Given the description of an element on the screen output the (x, y) to click on. 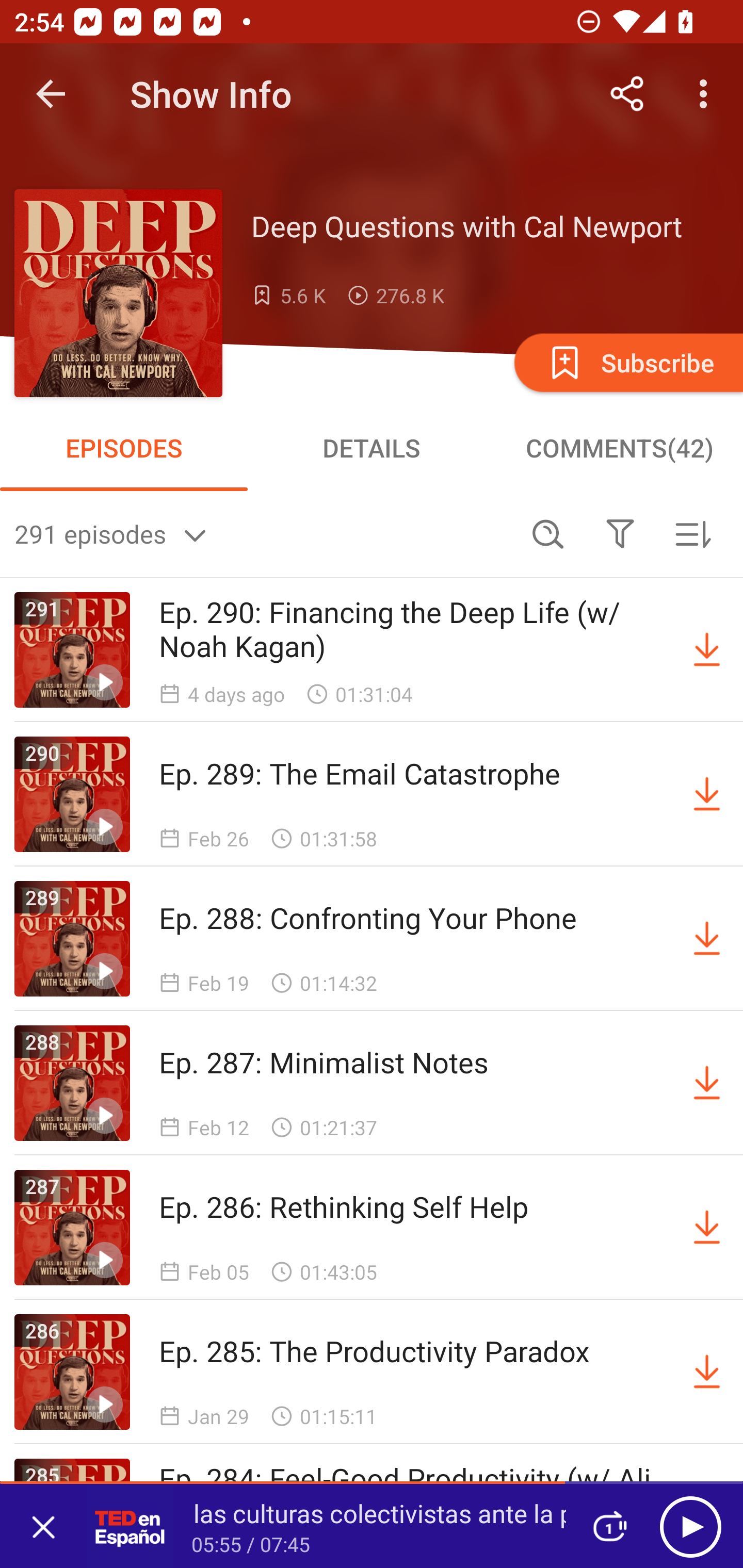
Navigate up (50, 93)
Share (626, 93)
More options (706, 93)
Subscribe (627, 361)
EPISODES (123, 447)
DETAILS (371, 447)
COMMENTS(42) (619, 447)
291 episodes  (262, 533)
 Search (547, 533)
 (619, 533)
 Sorted by newest first (692, 533)
Download (706, 649)
Download (706, 793)
Download (706, 939)
Download (706, 1083)
Download (706, 1227)
Download (706, 1371)
Play (690, 1526)
